Given the description of an element on the screen output the (x, y) to click on. 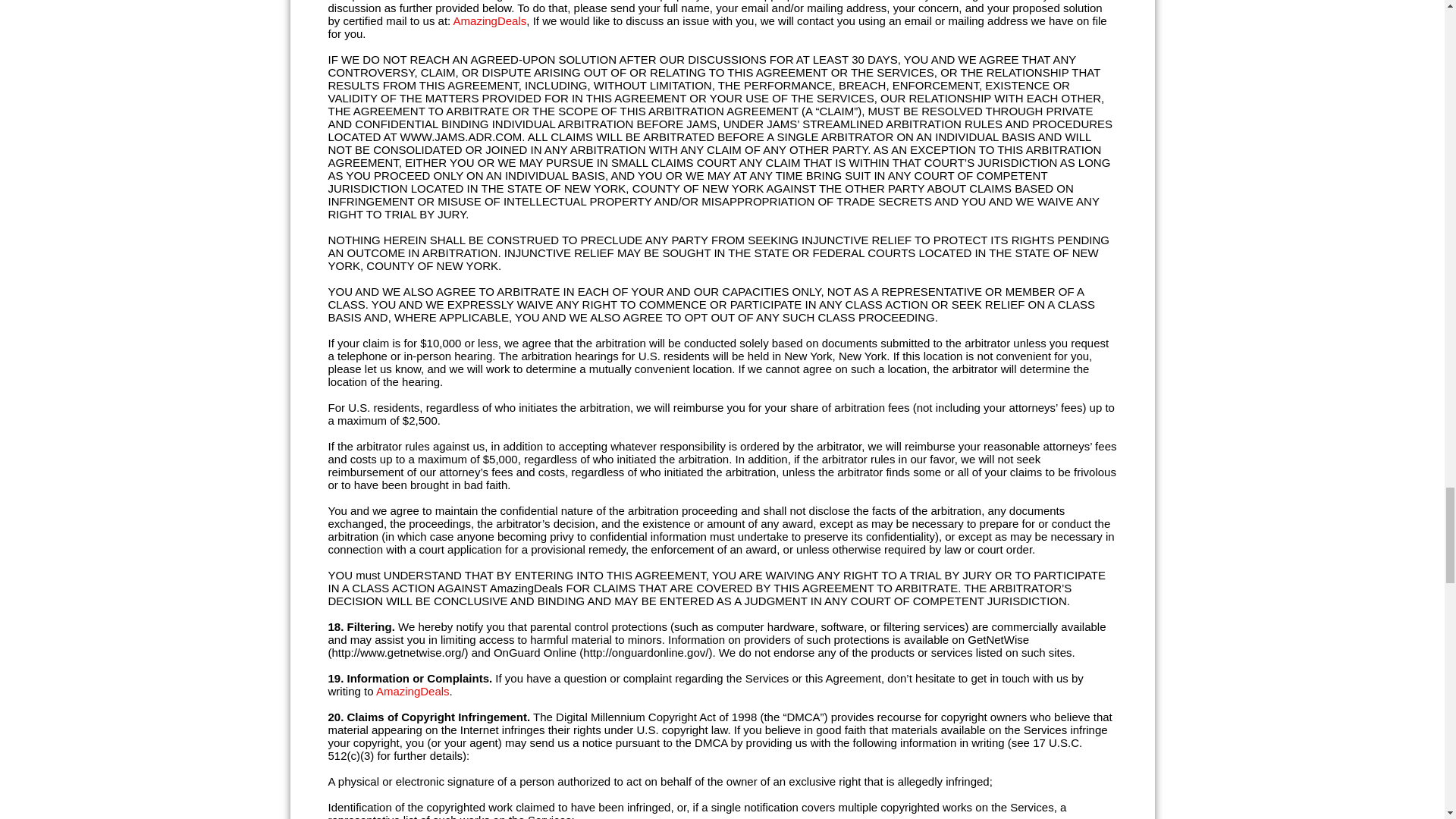
AmazingDeals (412, 690)
AmazingDeals (489, 20)
